Given the description of an element on the screen output the (x, y) to click on. 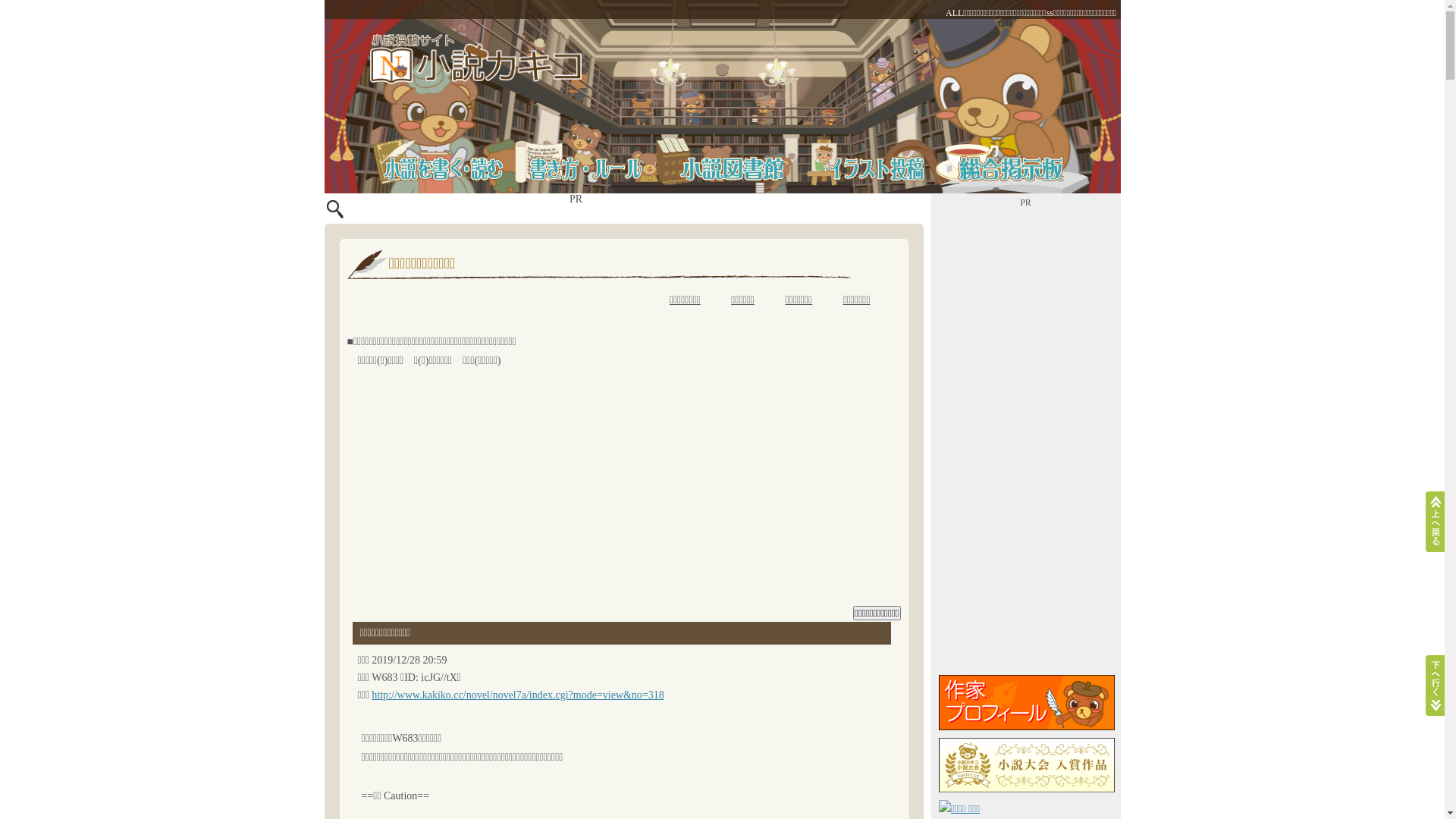
Advertisement Element type: hover (623, 491)
Advertisement Element type: hover (744, 211)
Advertisement Element type: hover (1025, 439)
